Given the description of an element on the screen output the (x, y) to click on. 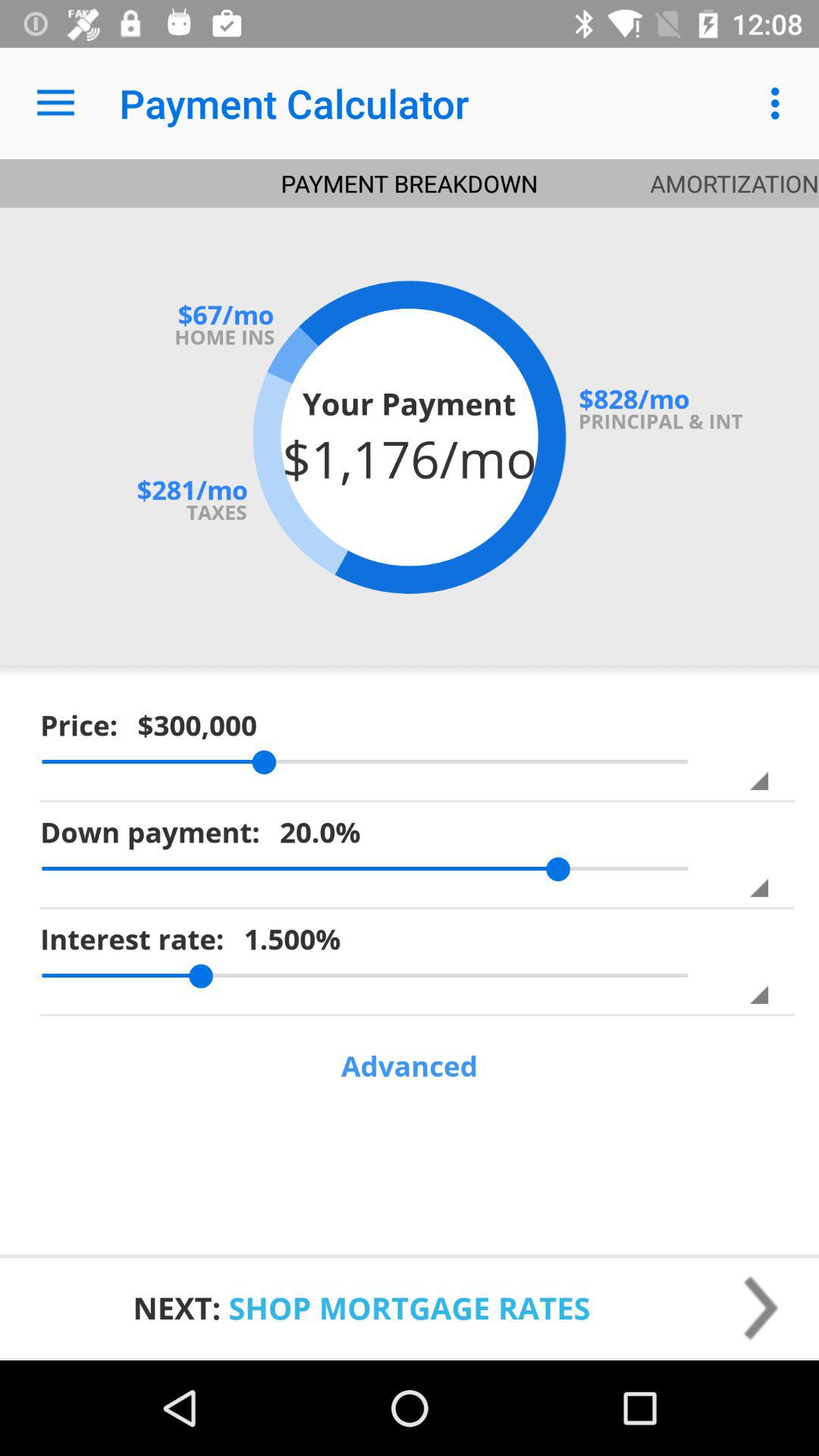
choose the app next to the payment calculator icon (55, 103)
